Given the description of an element on the screen output the (x, y) to click on. 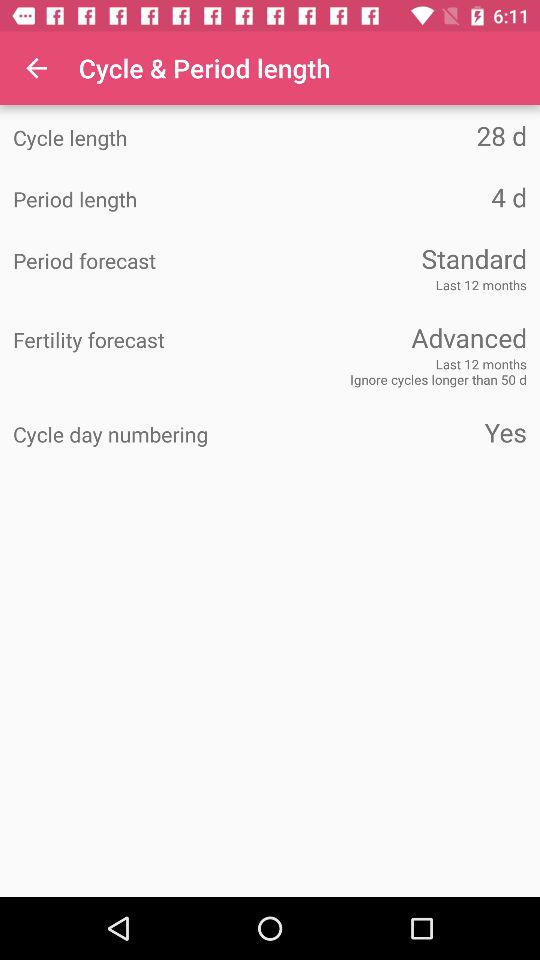
select icon to the right of cycle day numbering icon (398, 432)
